Given the description of an element on the screen output the (x, y) to click on. 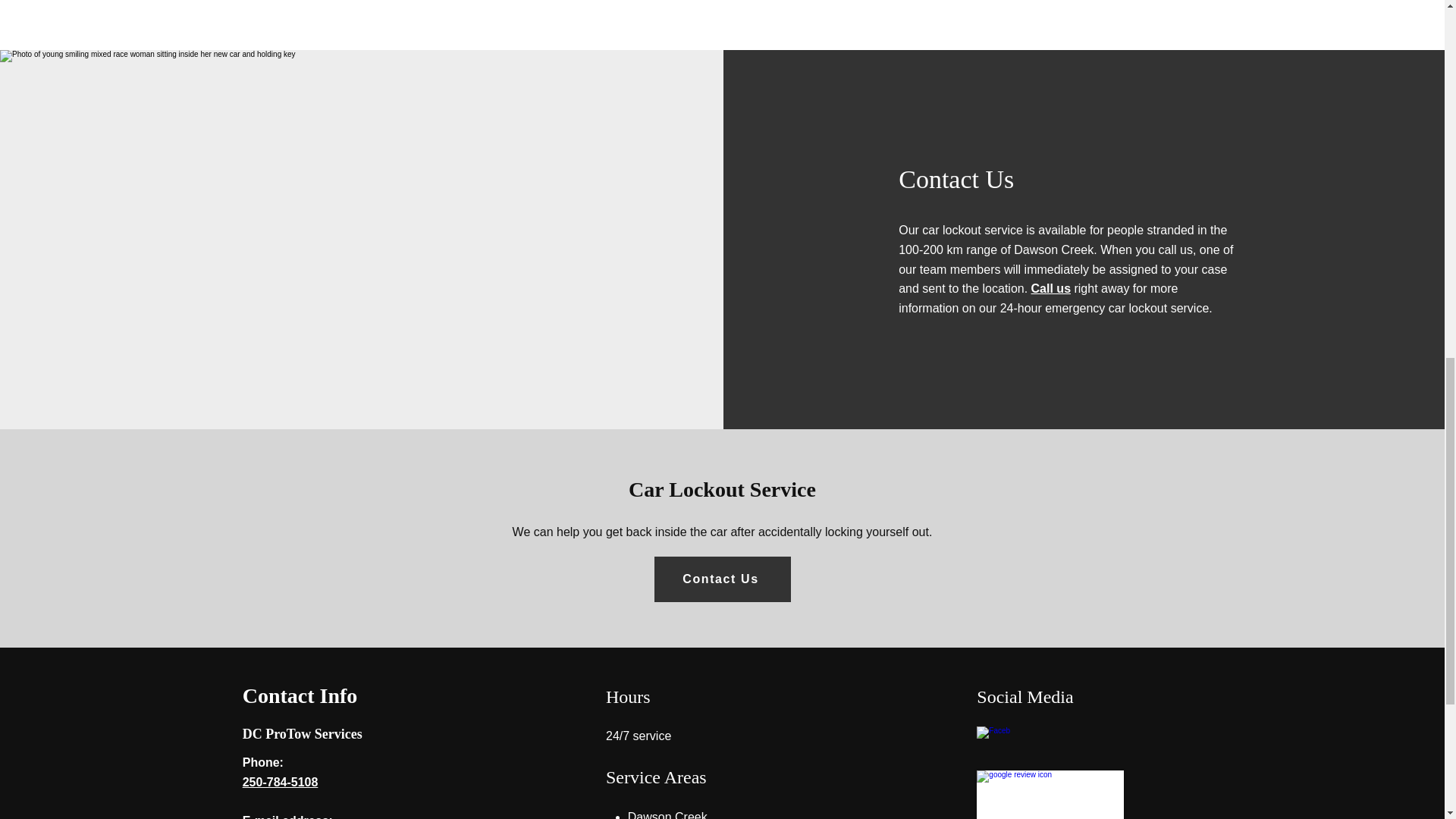
DC logo (1050, 794)
250-784-5108 (280, 780)
Call us (1050, 287)
Contact Us (721, 578)
